Given the description of an element on the screen output the (x, y) to click on. 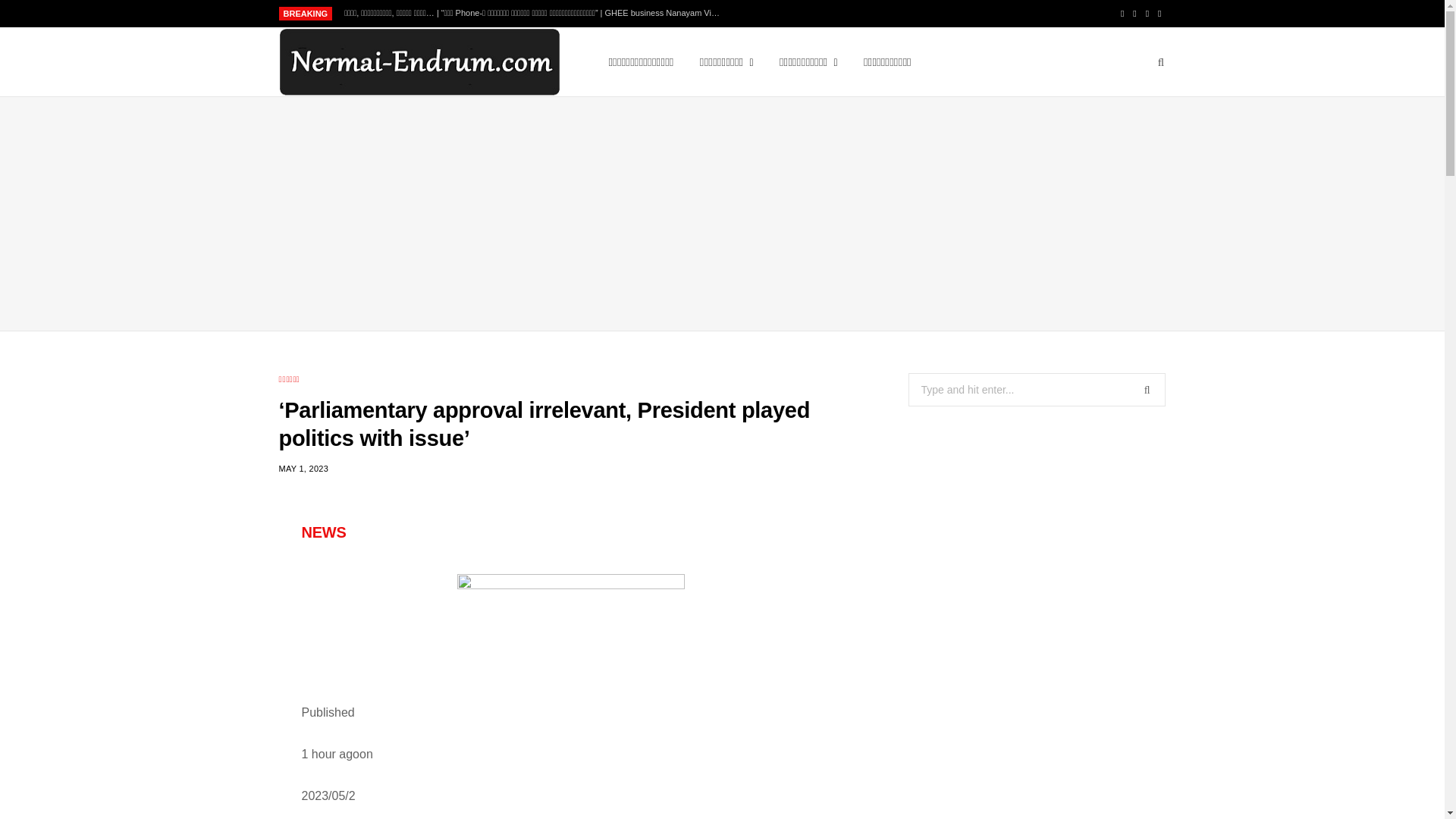
NEWS (323, 532)
Nermai Endrum (419, 61)
MAY 1, 2023 (304, 468)
